Given the description of an element on the screen output the (x, y) to click on. 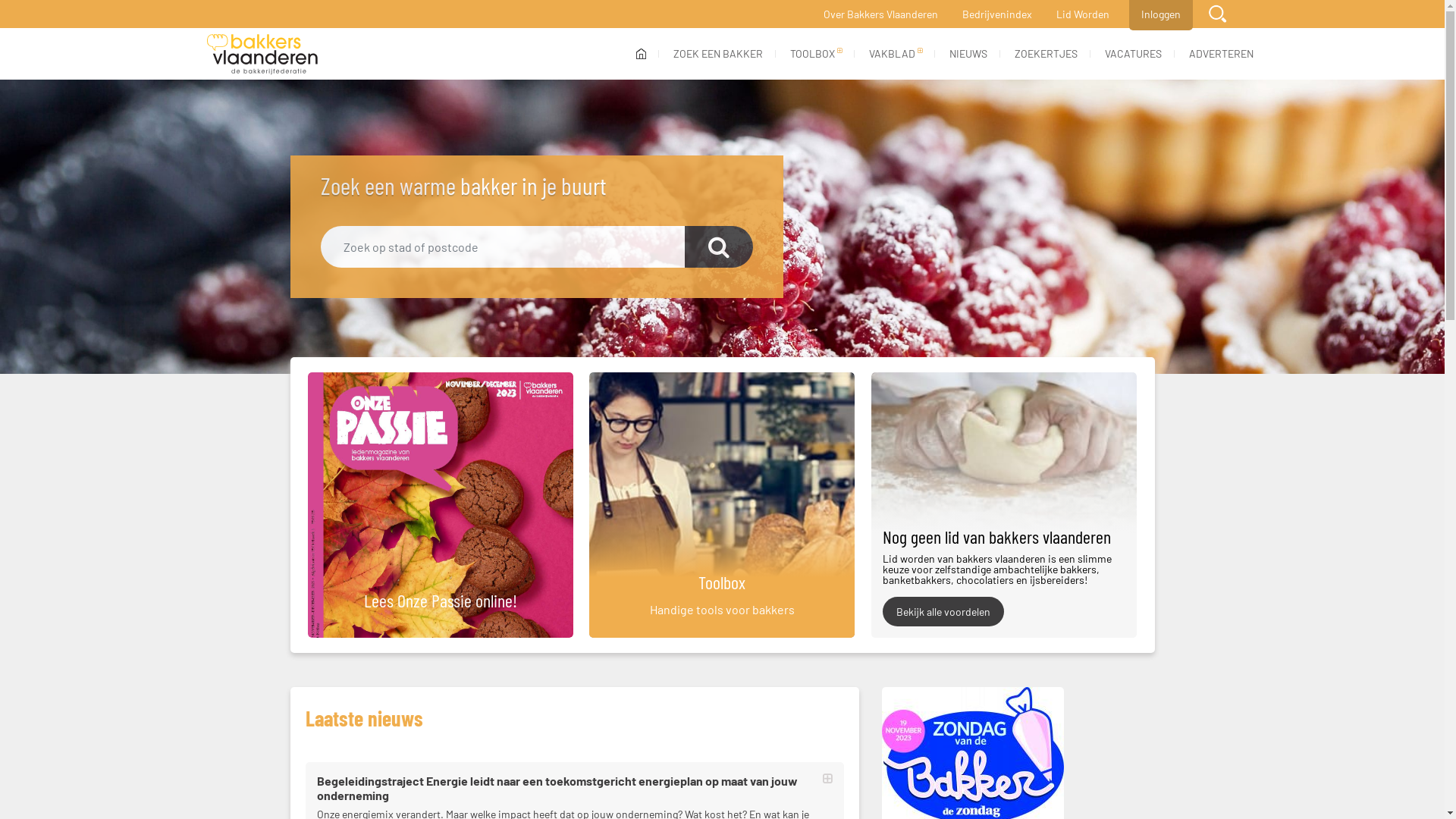
VAKBLAD Element type: text (895, 53)
(current) Element type: text (640, 53)
NIEUWS Element type: text (968, 53)
Inloggen Element type: text (1160, 14)
VACATURES Element type: text (1132, 53)
ADVERTEREN Element type: text (1220, 53)
Bekijk alle voordelen Element type: text (943, 611)
Toolbox
Handige tools voor bakkers Element type: text (721, 504)
Lid Worden Element type: text (1081, 14)
Lees Onze Passie online! Element type: text (434, 504)
Bedrijvenindex Element type: text (996, 14)
TOOLBOX Element type: text (815, 53)
ZOEKERTJES Element type: text (1045, 53)
ZOEK EEN BAKKER Element type: text (718, 53)
Over Bakkers Vlaanderen Element type: text (880, 14)
